Given the description of an element on the screen output the (x, y) to click on. 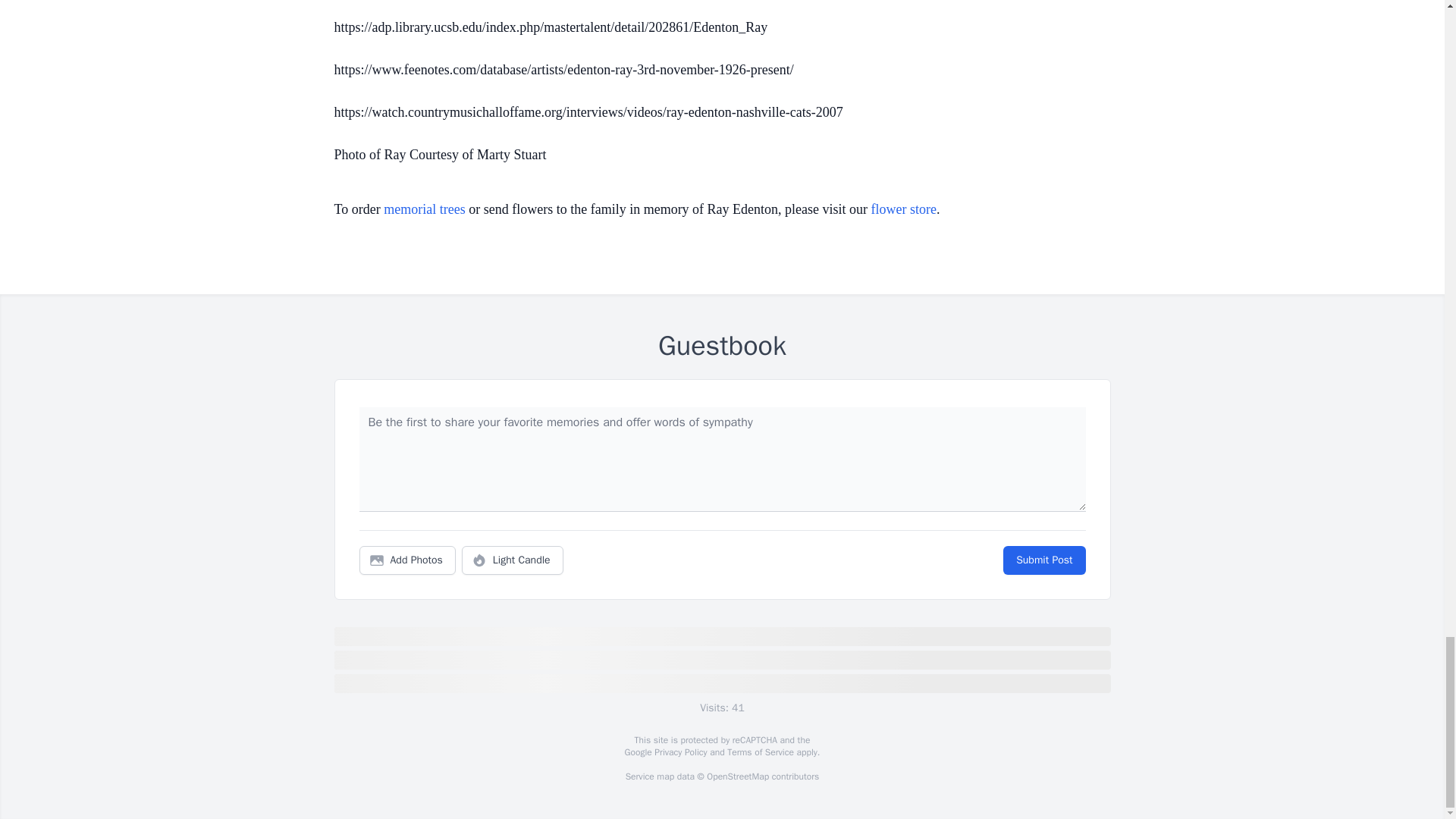
flower store (903, 209)
Privacy Policy (679, 752)
Terms of Service (759, 752)
memorial trees (424, 209)
Light Candle (512, 560)
Add Photos (407, 560)
OpenStreetMap (737, 776)
Submit Post (1043, 560)
